Given the description of an element on the screen output the (x, y) to click on. 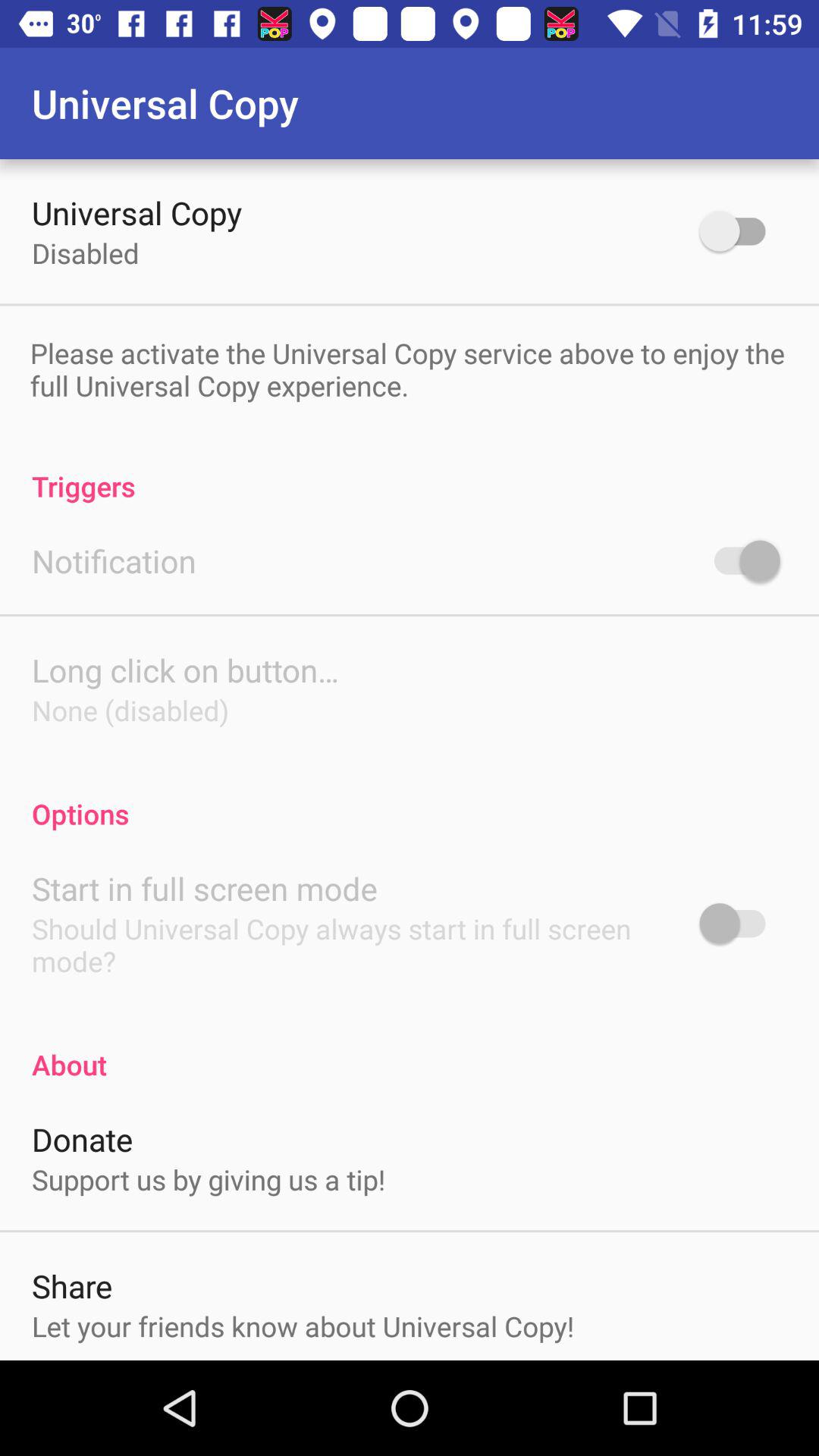
toggle notification option (739, 560)
